Given the description of an element on the screen output the (x, y) to click on. 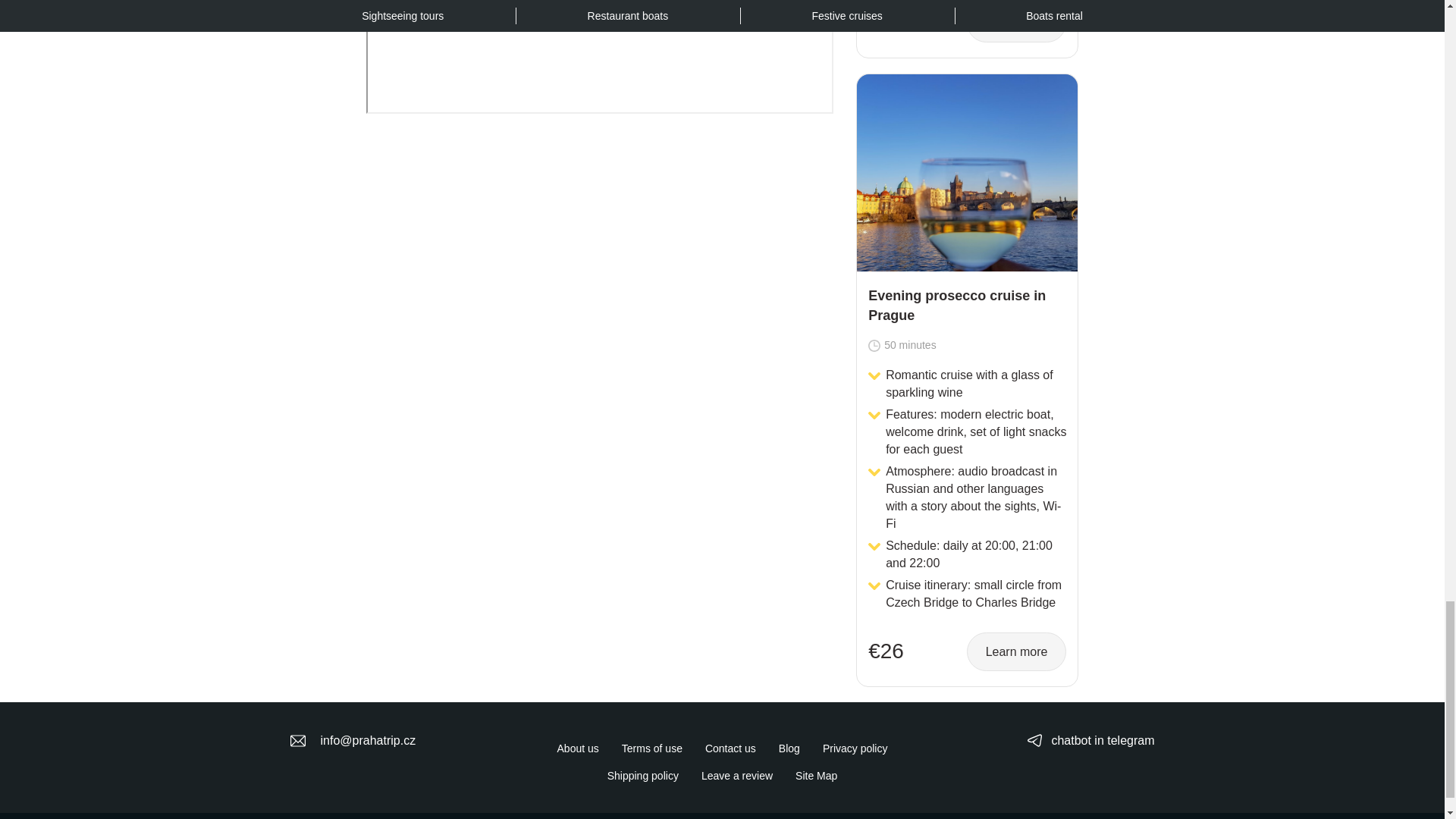
Evening prosecco cruise in Prague (967, 172)
Evening prosecco cruise in Prague (966, 305)
